Given the description of an element on the screen output the (x, y) to click on. 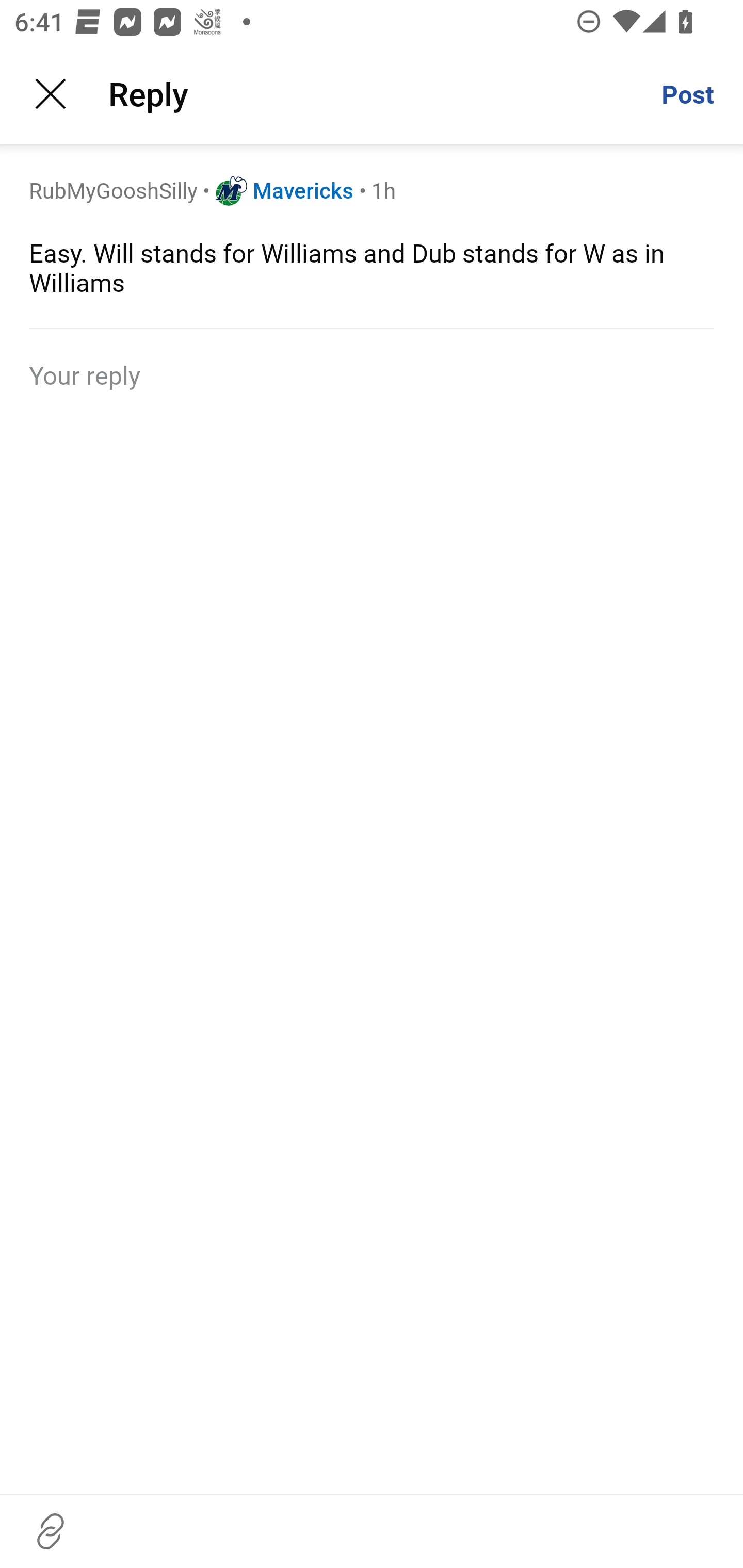
Close (50, 93)
Post (687, 94)
Your reply (371, 374)
Insert a link (50, 1530)
